Given the description of an element on the screen output the (x, y) to click on. 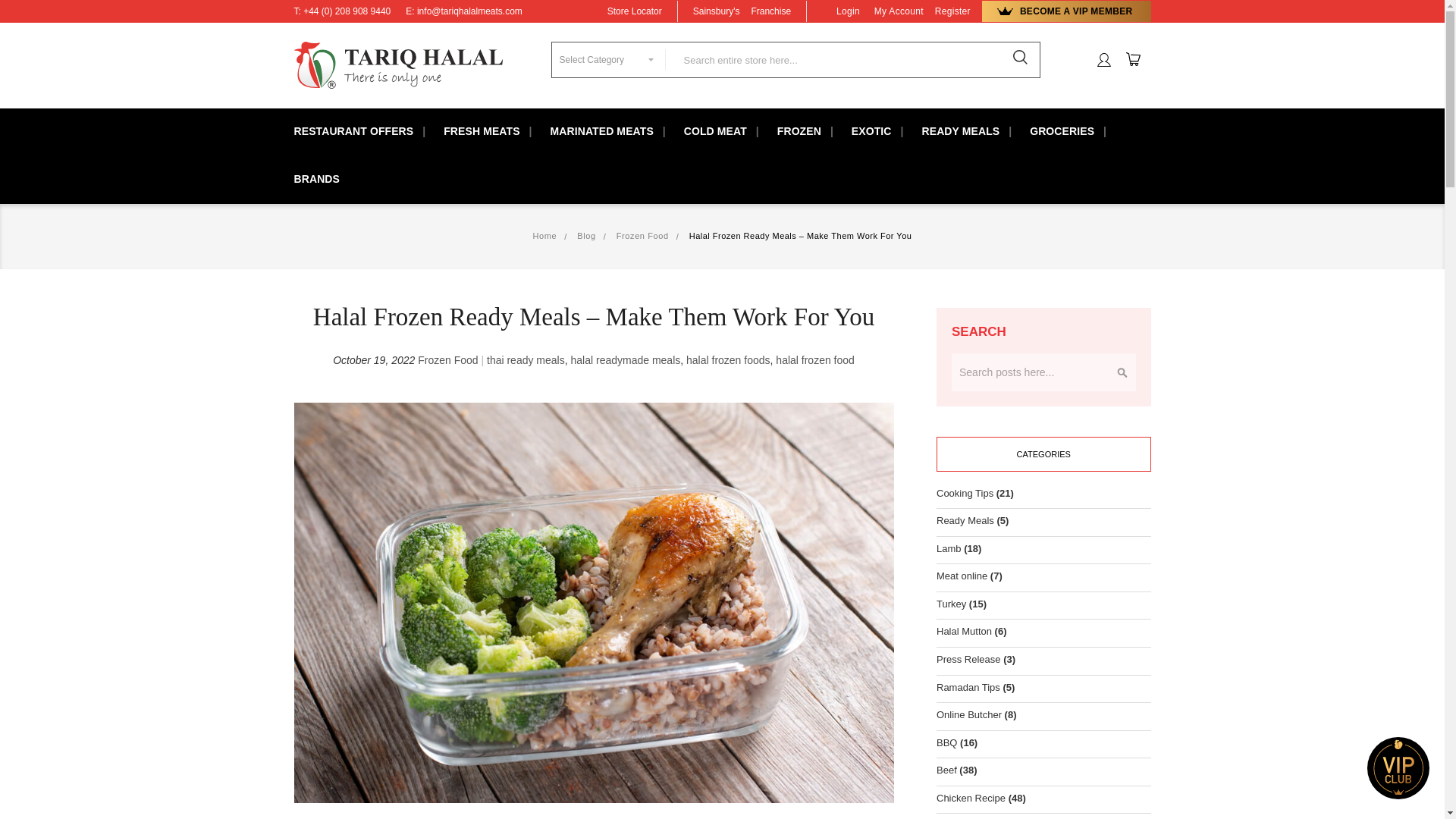
Franchise (770, 10)
BECOME A VIP MEMBER (1064, 11)
Sainsbury's (716, 10)
Store Locator (634, 10)
Frozen Food (447, 359)
Blog (585, 235)
My Cart (1137, 59)
halal frozen foods (727, 359)
thai ready meals (525, 359)
Go to Home Page (544, 235)
Login (847, 11)
Search (1020, 57)
Search (1020, 57)
Register (952, 11)
Sainsbury's (716, 10)
